Given the description of an element on the screen output the (x, y) to click on. 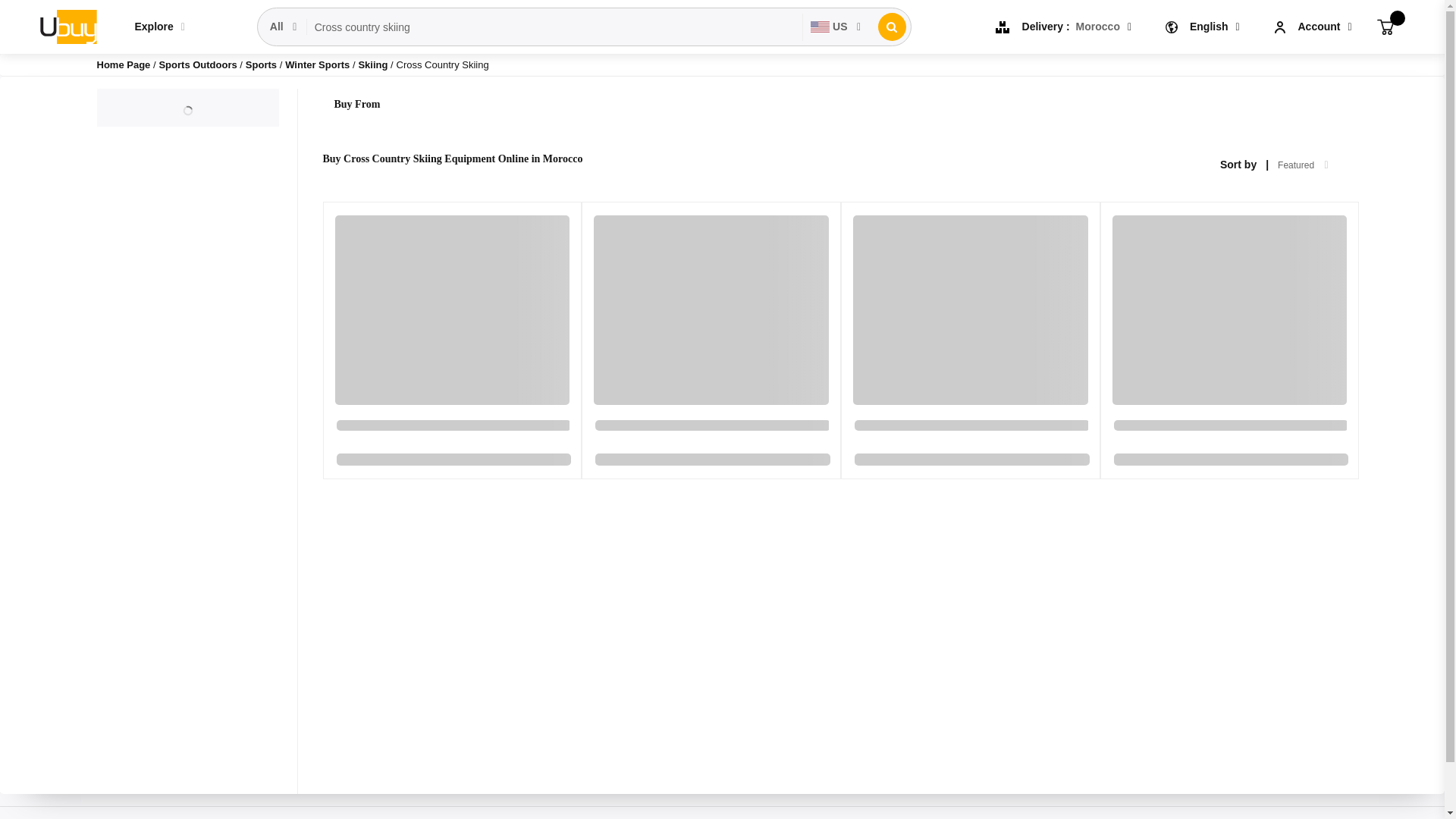
US (836, 26)
Ubuy (67, 26)
All (283, 26)
Cross country skiing (554, 26)
Cross country skiing (554, 26)
Cart (1385, 26)
